Given the description of an element on the screen output the (x, y) to click on. 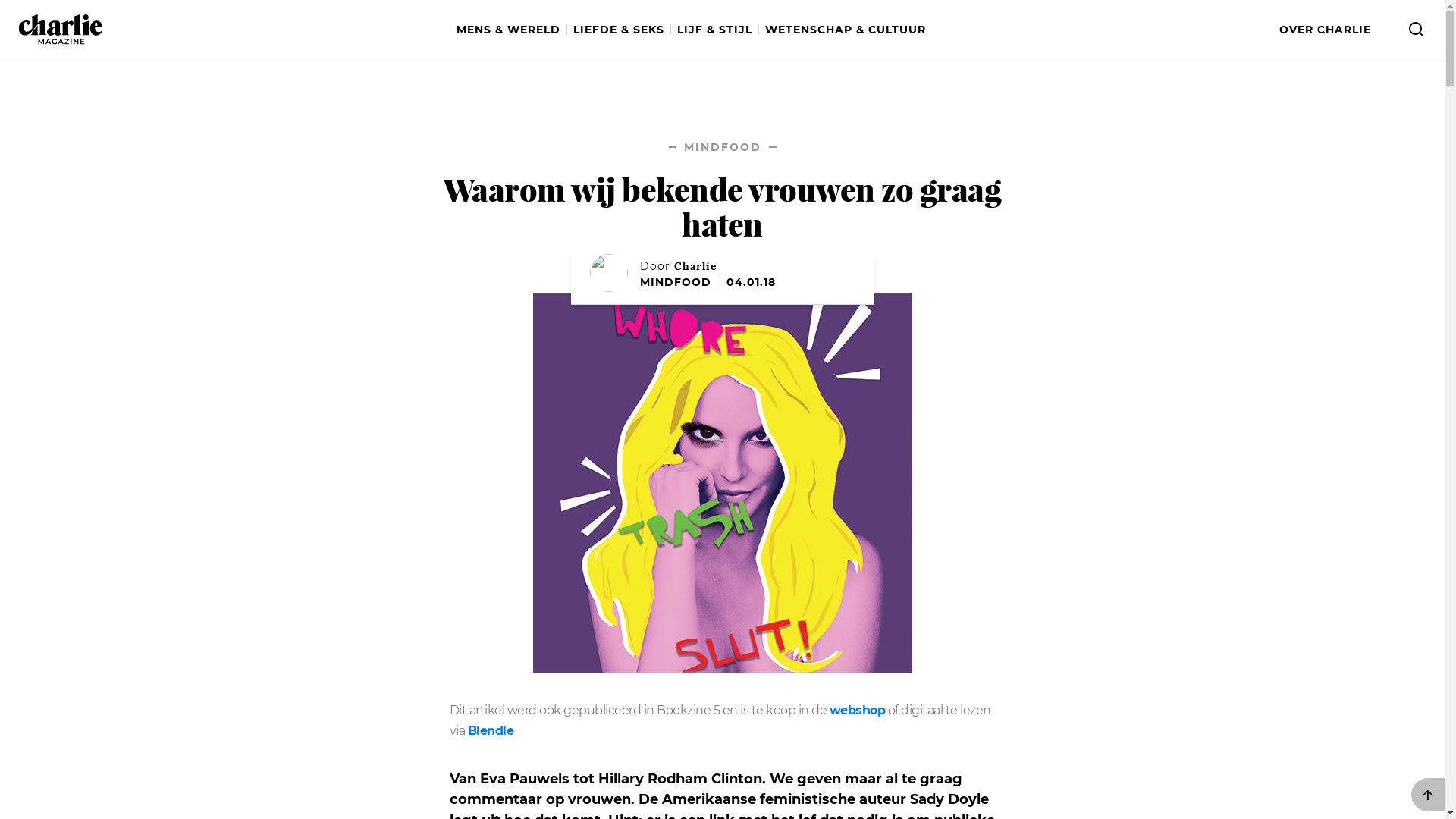
OVER CHARLIE Element type: text (1325, 29)
Charlie magazine Element type: text (60, 29)
webshop Element type: text (857, 710)
LIJF & STIJL Element type: text (717, 29)
Blendle Element type: text (490, 730)
WETENSCHAP & CULTUUR Element type: text (844, 29)
MENS & WERELD Element type: text (511, 29)
LIEFDE & SEKS Element type: text (622, 29)
